Given the description of an element on the screen output the (x, y) to click on. 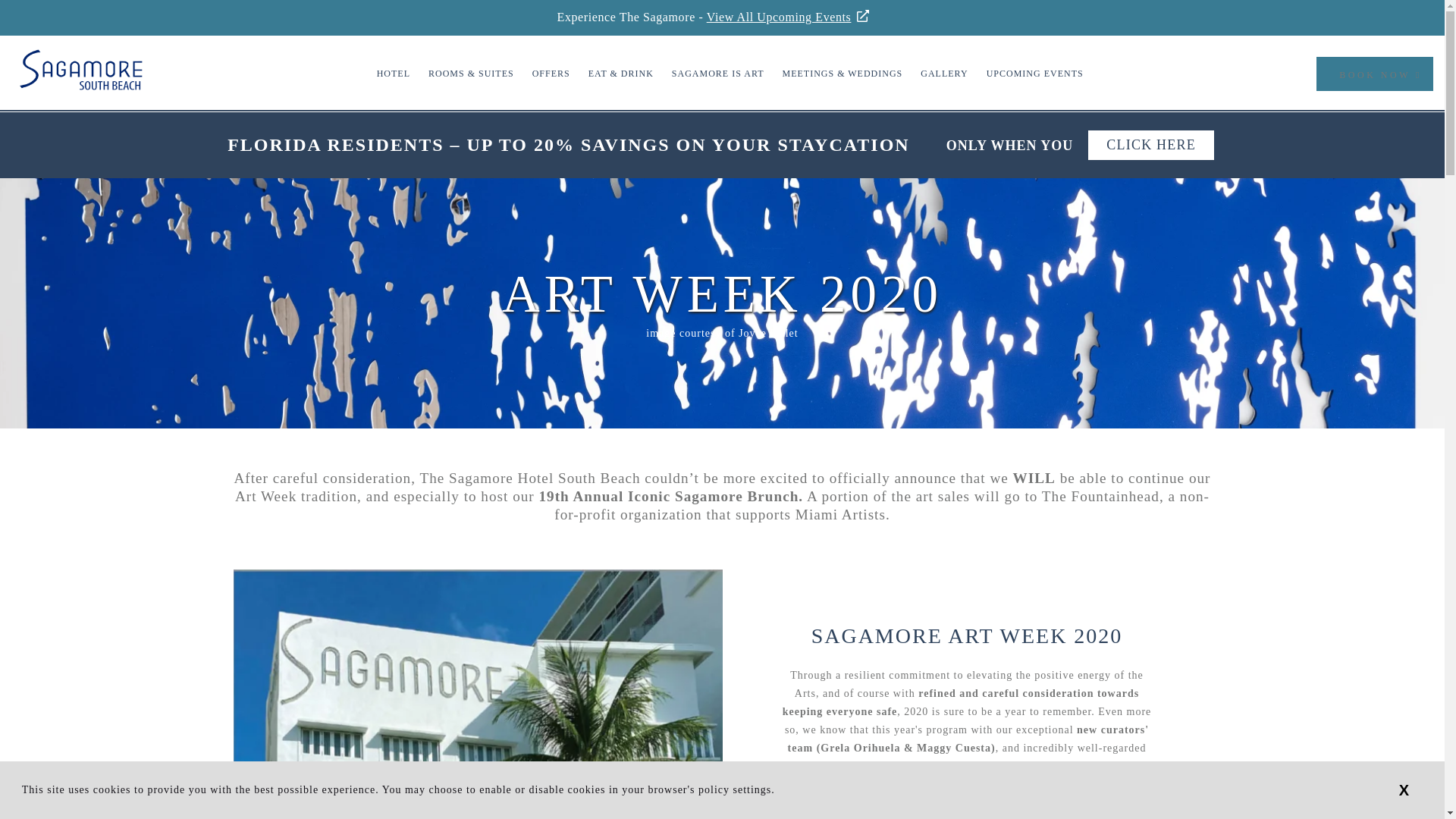
OFFERS (550, 73)
GALLERY (943, 73)
dismiss cookie message (1404, 789)
UPCOMING EVENTS (1034, 73)
X (1404, 789)
View All Upcoming Events (797, 16)
BOOK NOW (1374, 73)
CLICK HERE (1150, 144)
HOTEL (393, 73)
SAGAMORE IS ART (717, 73)
